Given the description of an element on the screen output the (x, y) to click on. 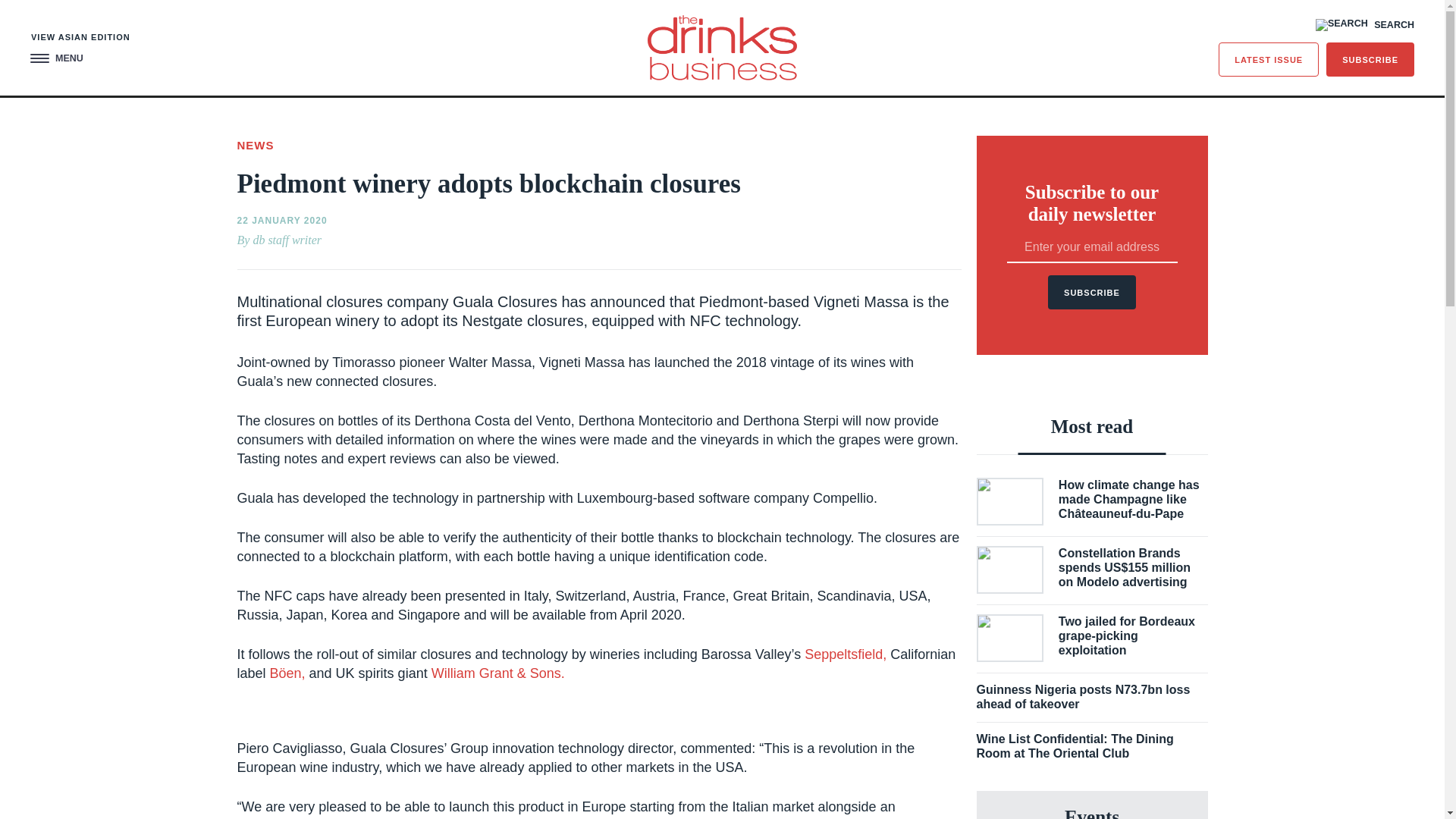
LATEST ISSUE (1268, 59)
The Drinks Business (721, 47)
MENU (56, 58)
SEARCH (1364, 24)
VIEW ASIAN EDITION (80, 37)
SUBSCRIBE (1369, 59)
